Given the description of an element on the screen output the (x, y) to click on. 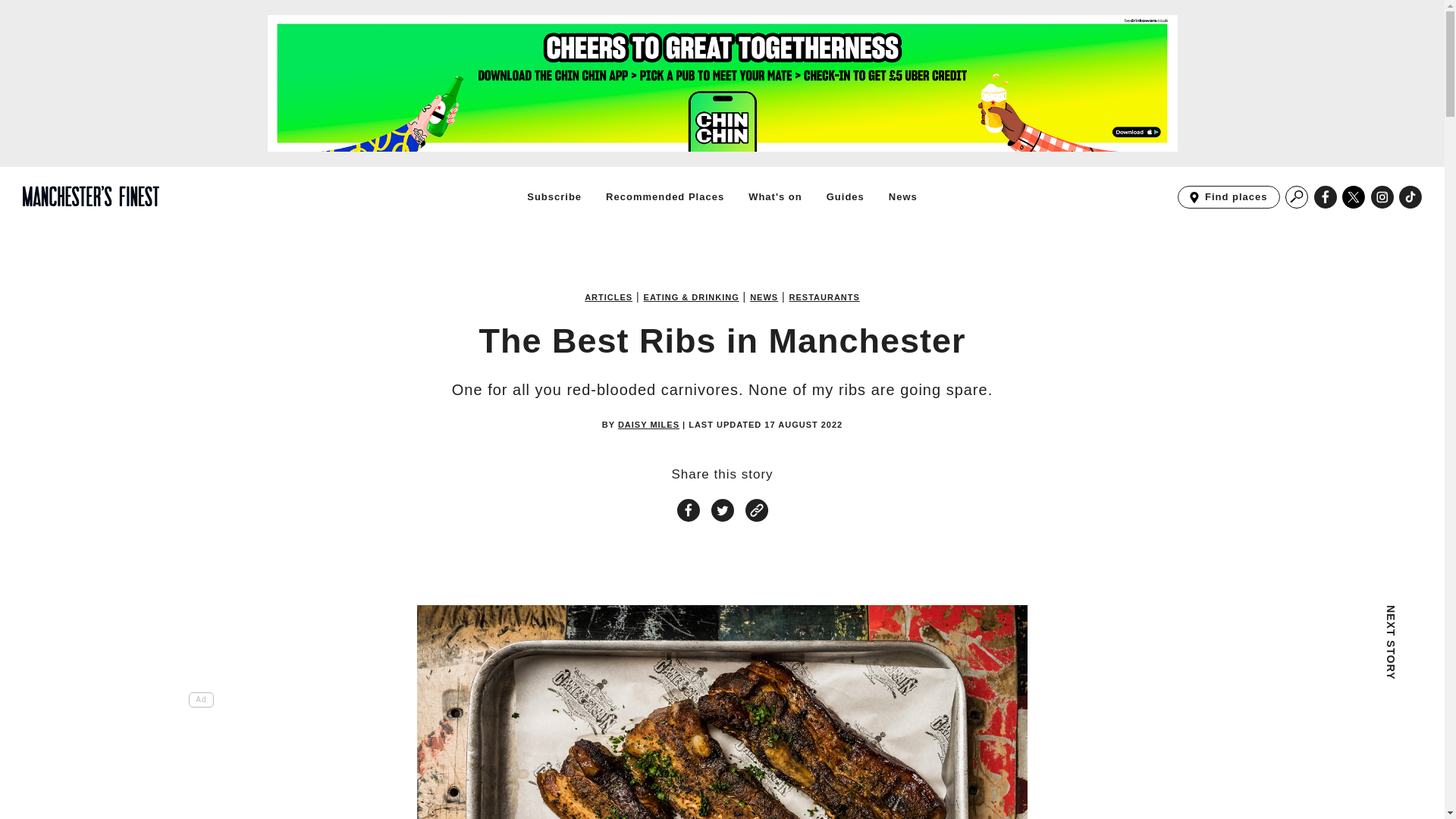
Go to Manchester's Finest Facebook page (1325, 196)
DAISY MILES (648, 423)
What's on (775, 196)
Guides (845, 196)
Go to Manchester's Finest Instagram profile (1382, 196)
News (902, 196)
ARTICLES (608, 297)
Go to Manchester's Finest Instagram profile (1382, 196)
Recommended Places (664, 196)
NEWS (763, 297)
